Given the description of an element on the screen output the (x, y) to click on. 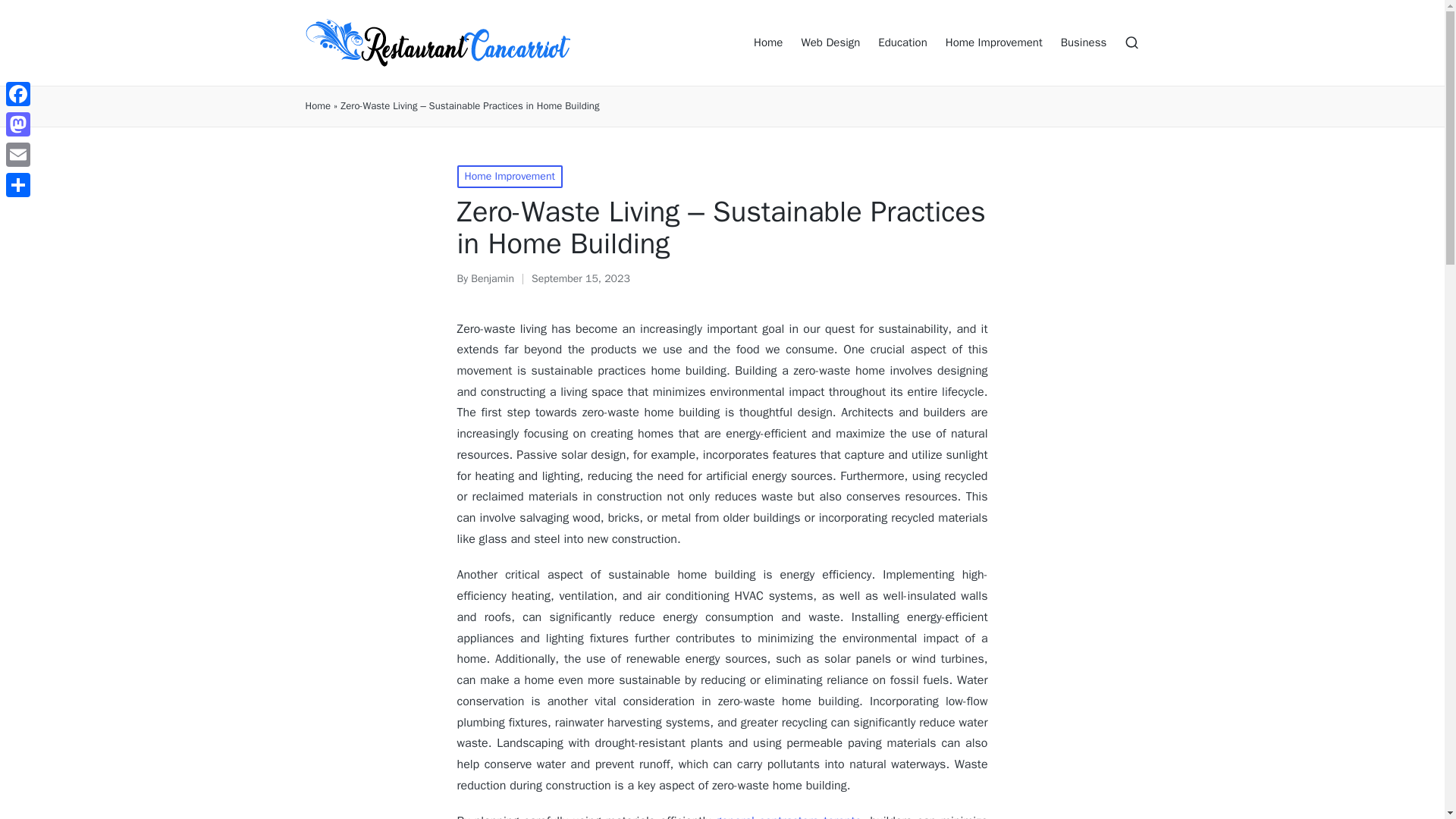
Home Improvement (993, 42)
Facebook (17, 93)
View all posts by Benjamin (491, 278)
Benjamin (491, 278)
Web Design (830, 42)
general contractors toronto (787, 816)
Business (1083, 42)
Education (901, 42)
Home (768, 42)
Home Improvement (509, 176)
Home (317, 106)
Email (17, 154)
Mastodon (17, 123)
